Given the description of an element on the screen output the (x, y) to click on. 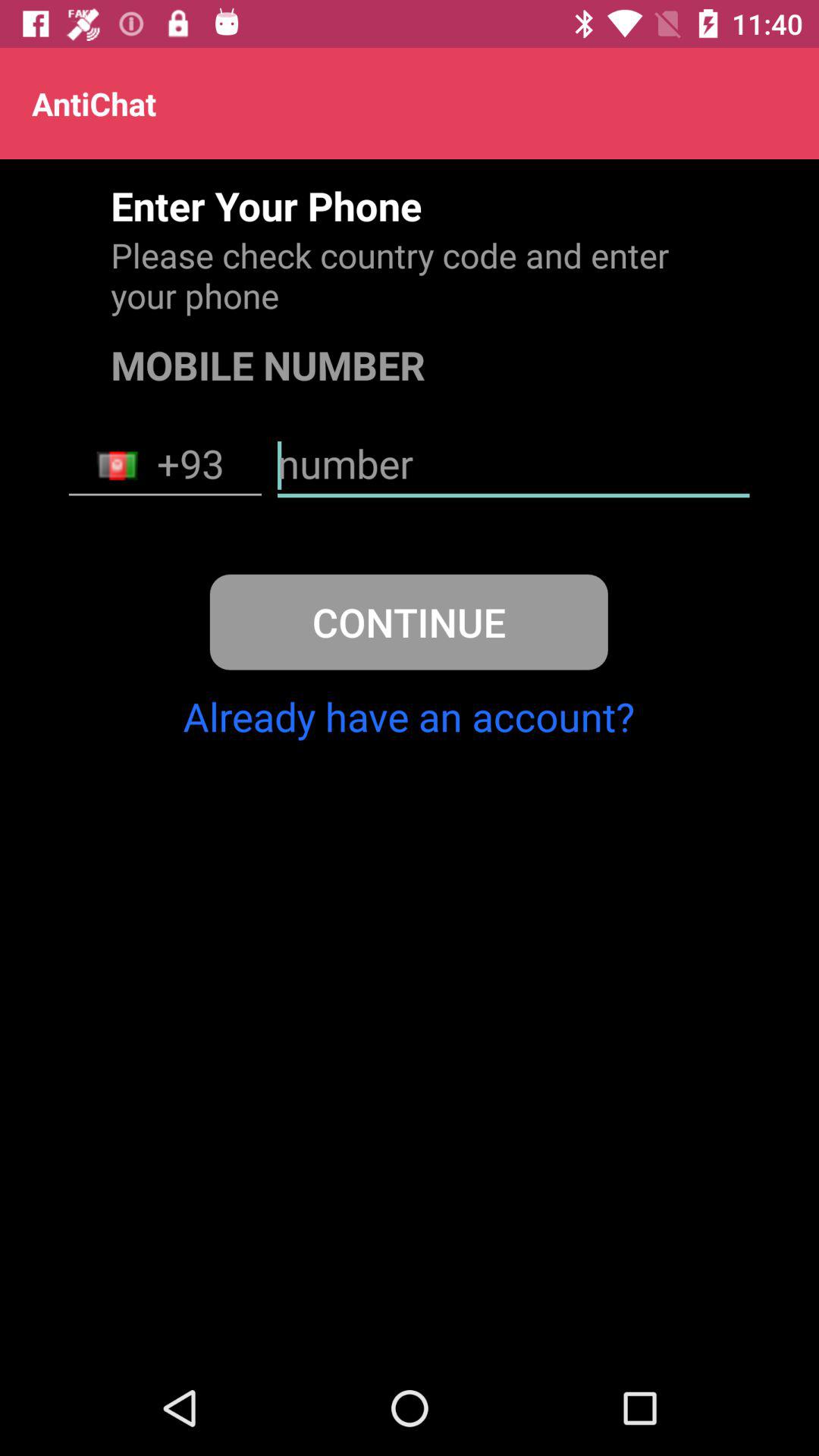
open the icon above the continue icon (164, 466)
